Given the description of an element on the screen output the (x, y) to click on. 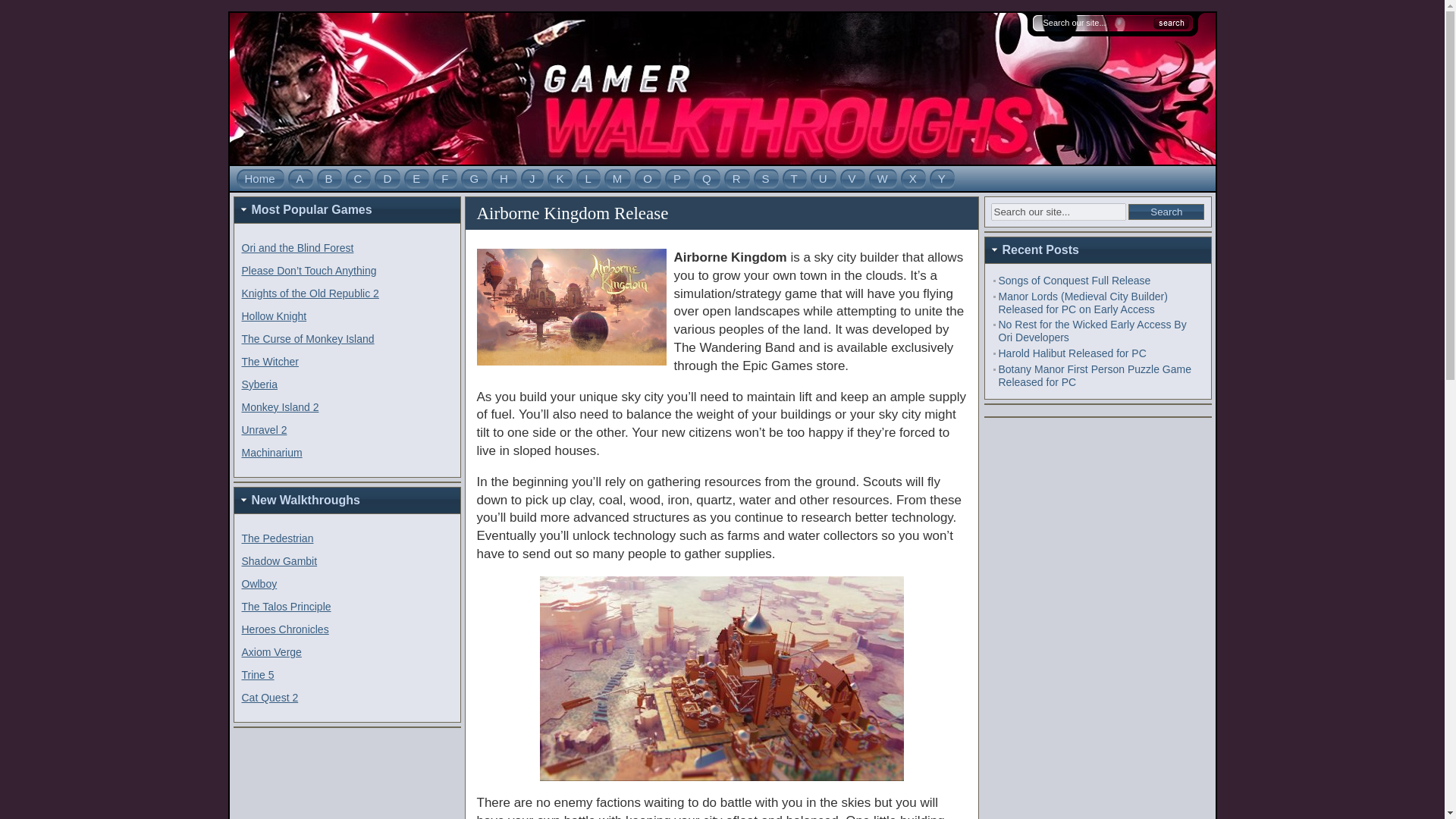
L (587, 178)
M (617, 178)
Syberia (258, 384)
V (853, 178)
H (504, 178)
D (387, 178)
B (328, 178)
F (445, 178)
Machinarium (271, 452)
Search (1166, 211)
